Given the description of an element on the screen output the (x, y) to click on. 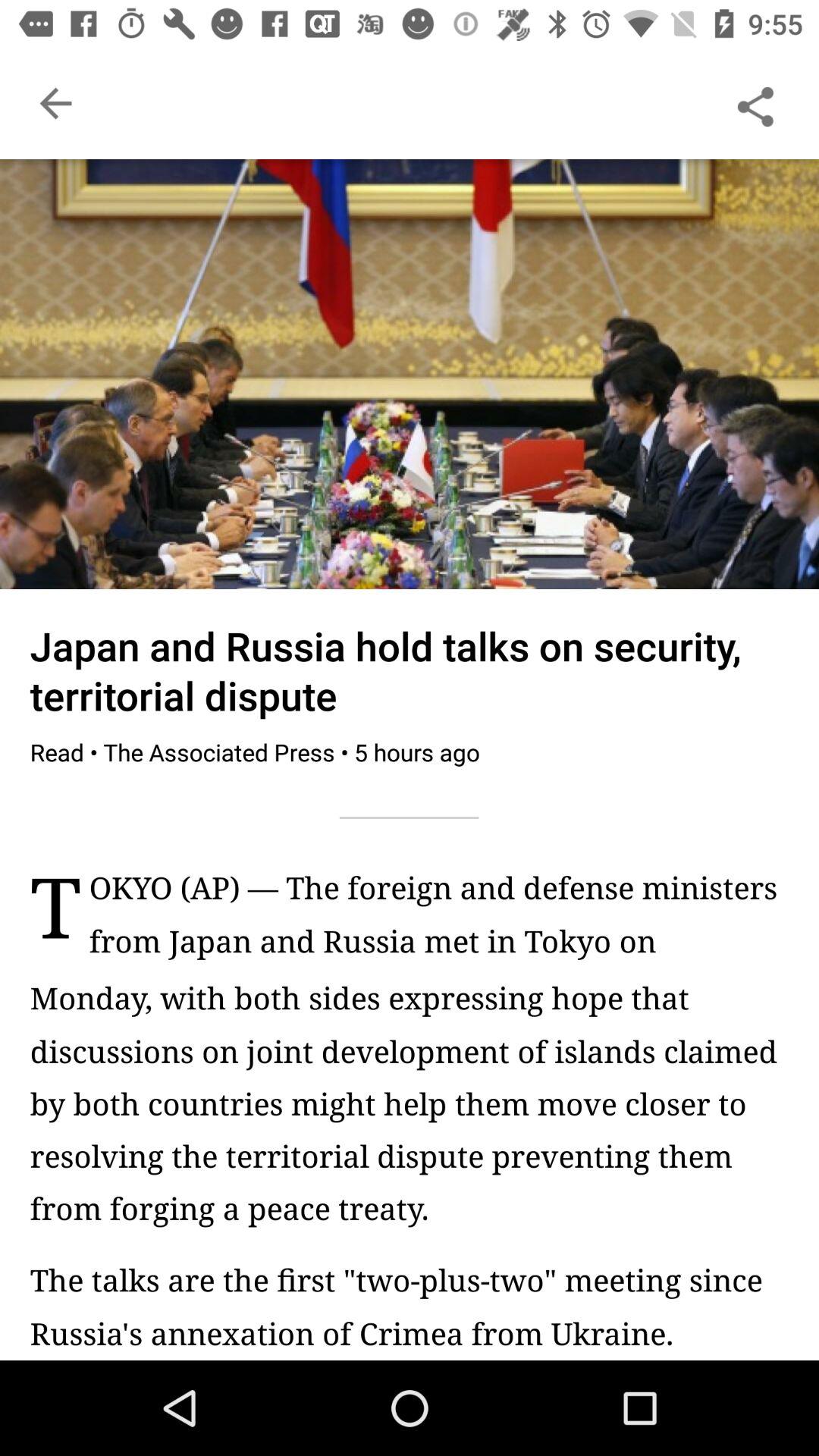
launch the the talks are icon (409, 1306)
